Given the description of an element on the screen output the (x, y) to click on. 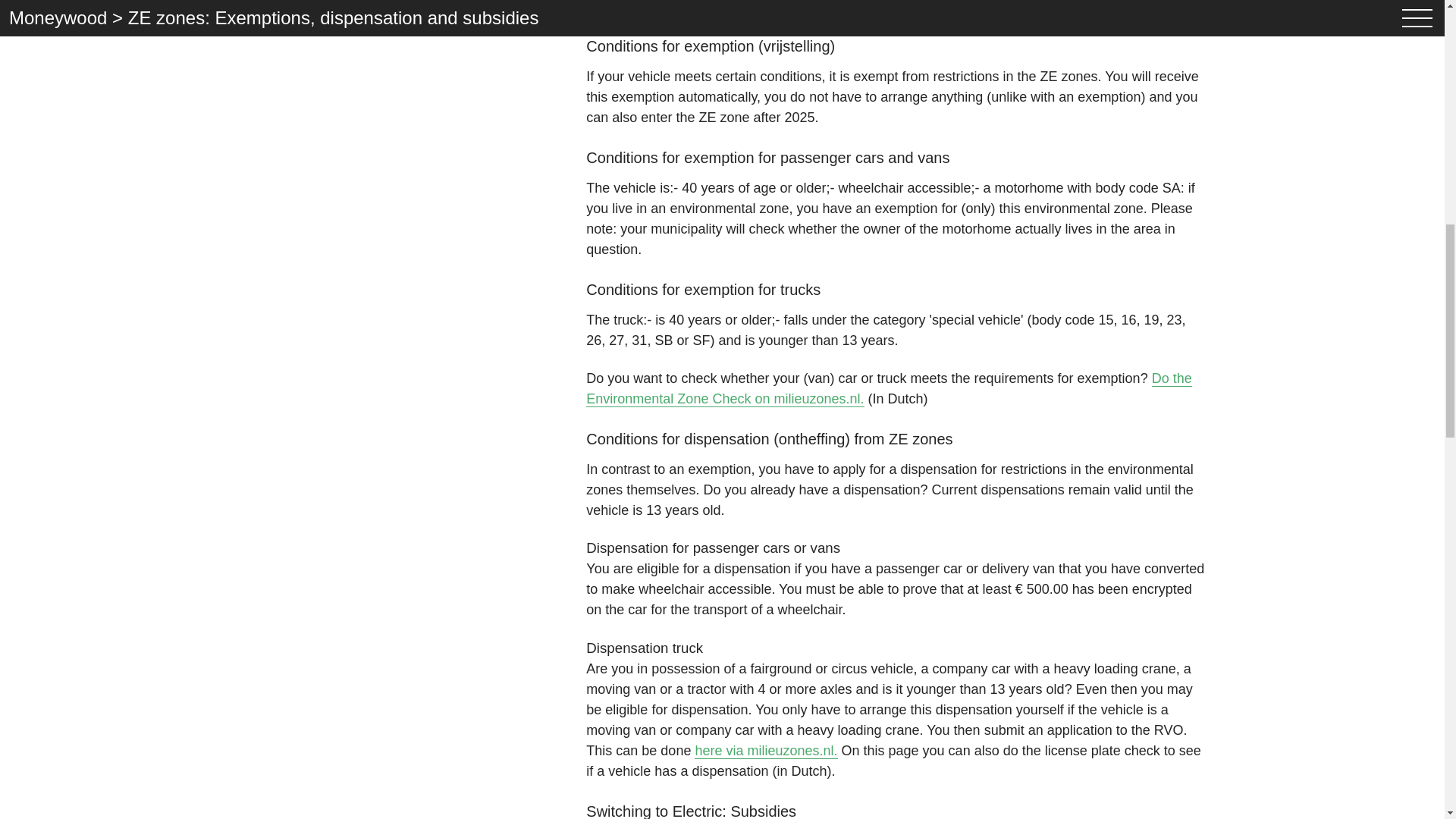
ZE zones (896, 6)
